Given the description of an element on the screen output the (x, y) to click on. 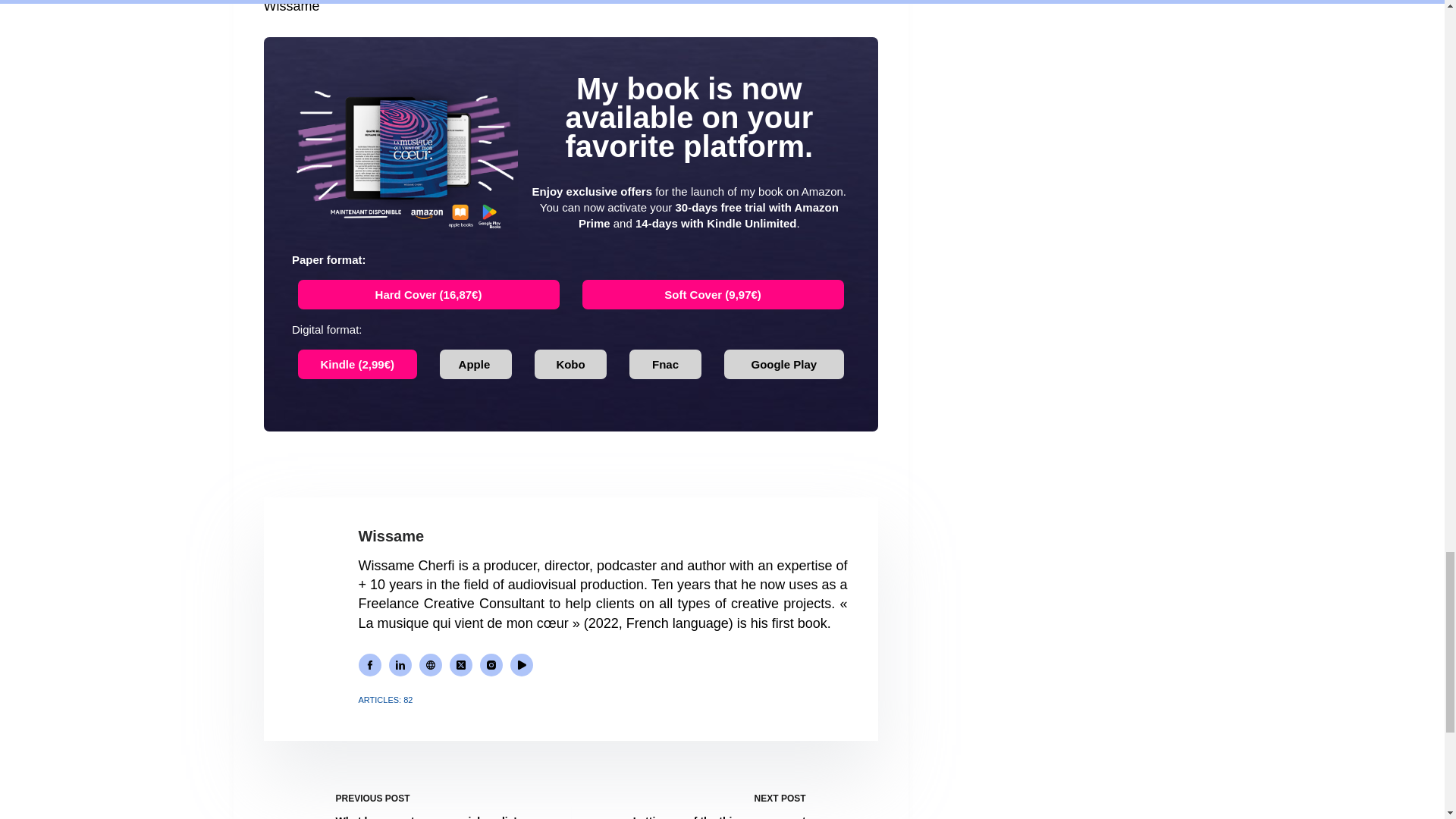
Fnac (664, 363)
Google Play (783, 363)
Kobo (570, 363)
Apple  (475, 363)
